Given the description of an element on the screen output the (x, y) to click on. 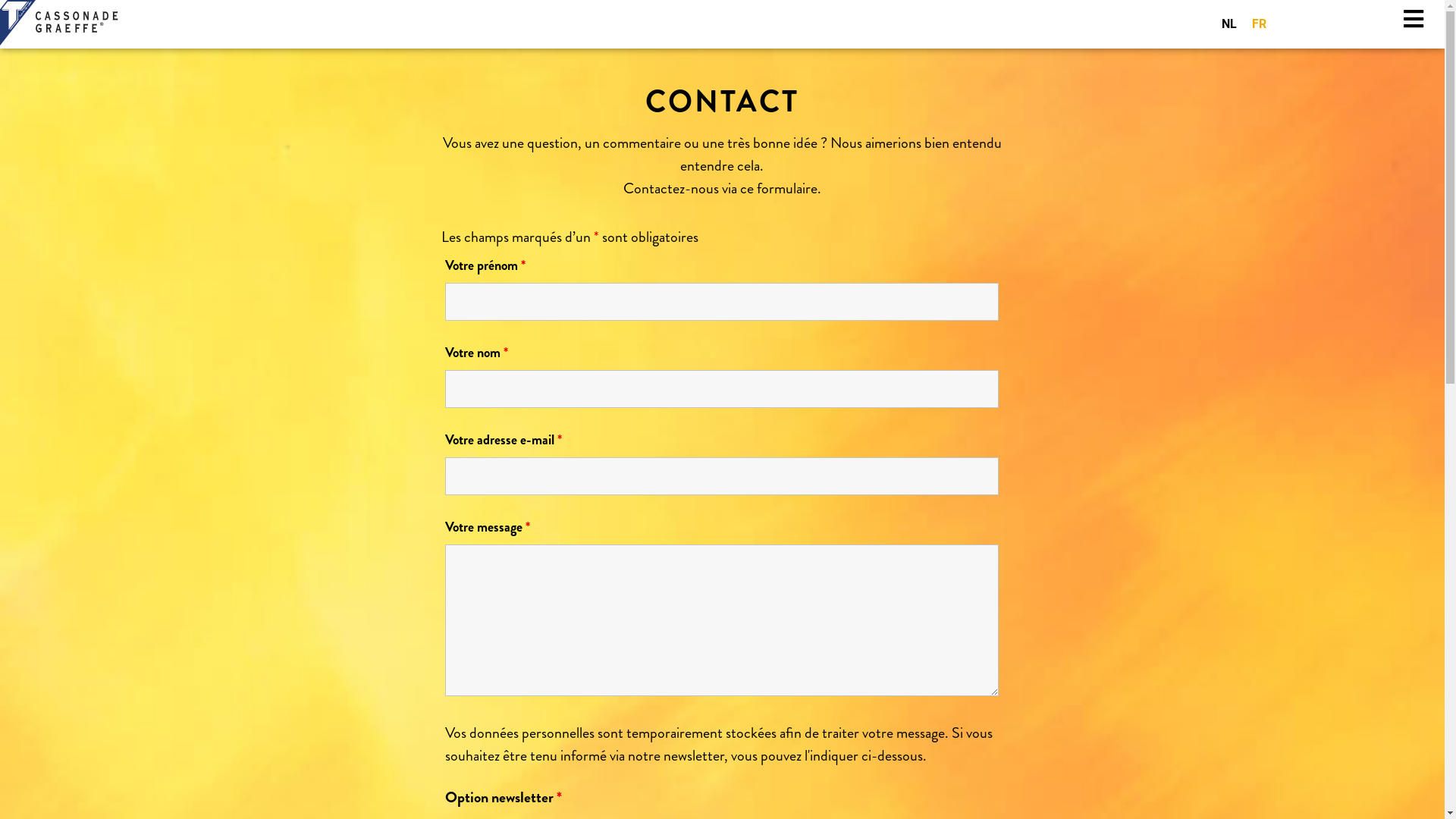
FR Element type: text (1259, 23)
NL Element type: text (1229, 23)
